Given the description of an element on the screen output the (x, y) to click on. 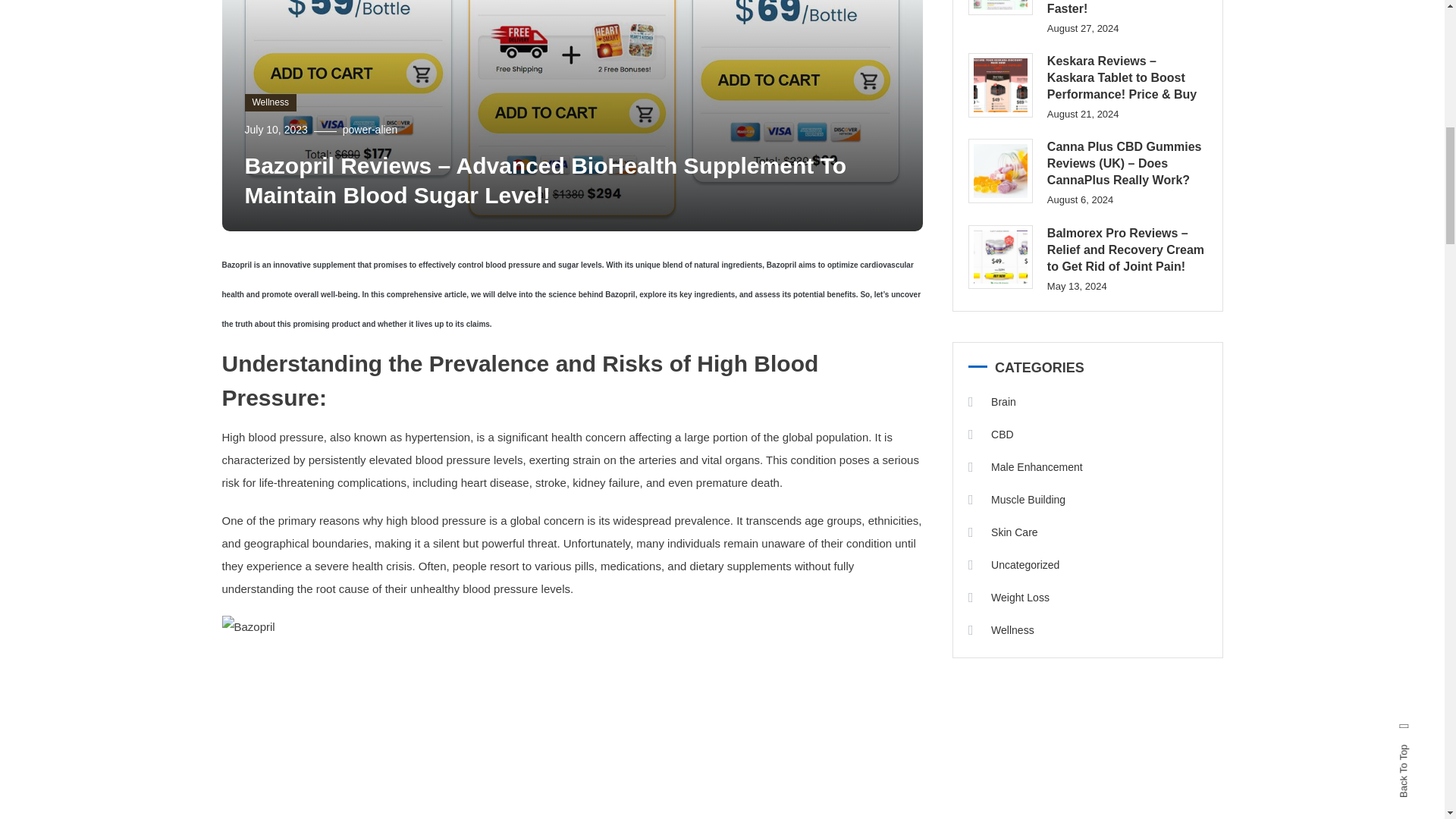
Wellness (269, 103)
power-alien (369, 129)
July 10, 2023 (275, 129)
